Given the description of an element on the screen output the (x, y) to click on. 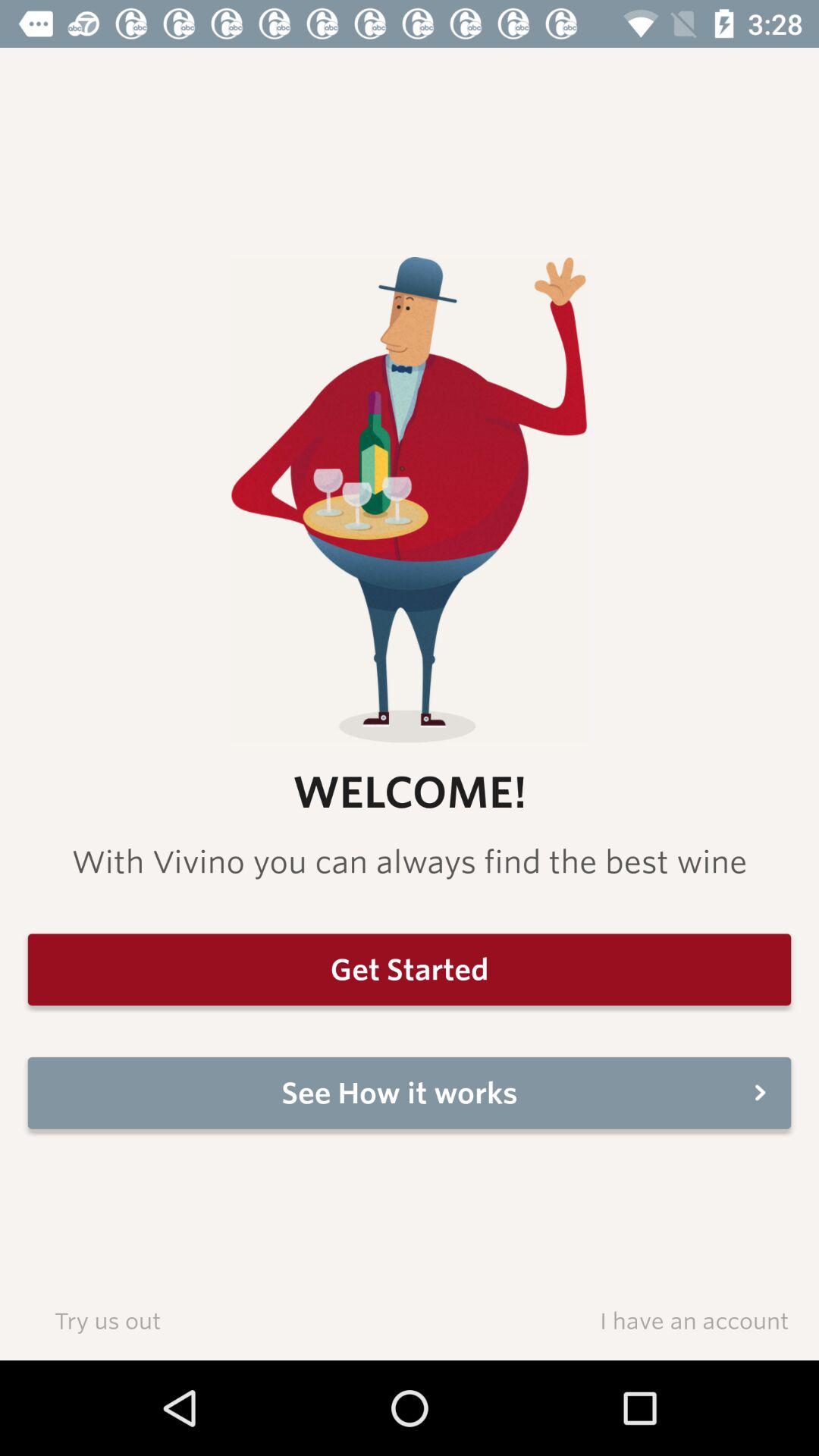
flip to i have an icon (694, 1320)
